Given the description of an element on the screen output the (x, y) to click on. 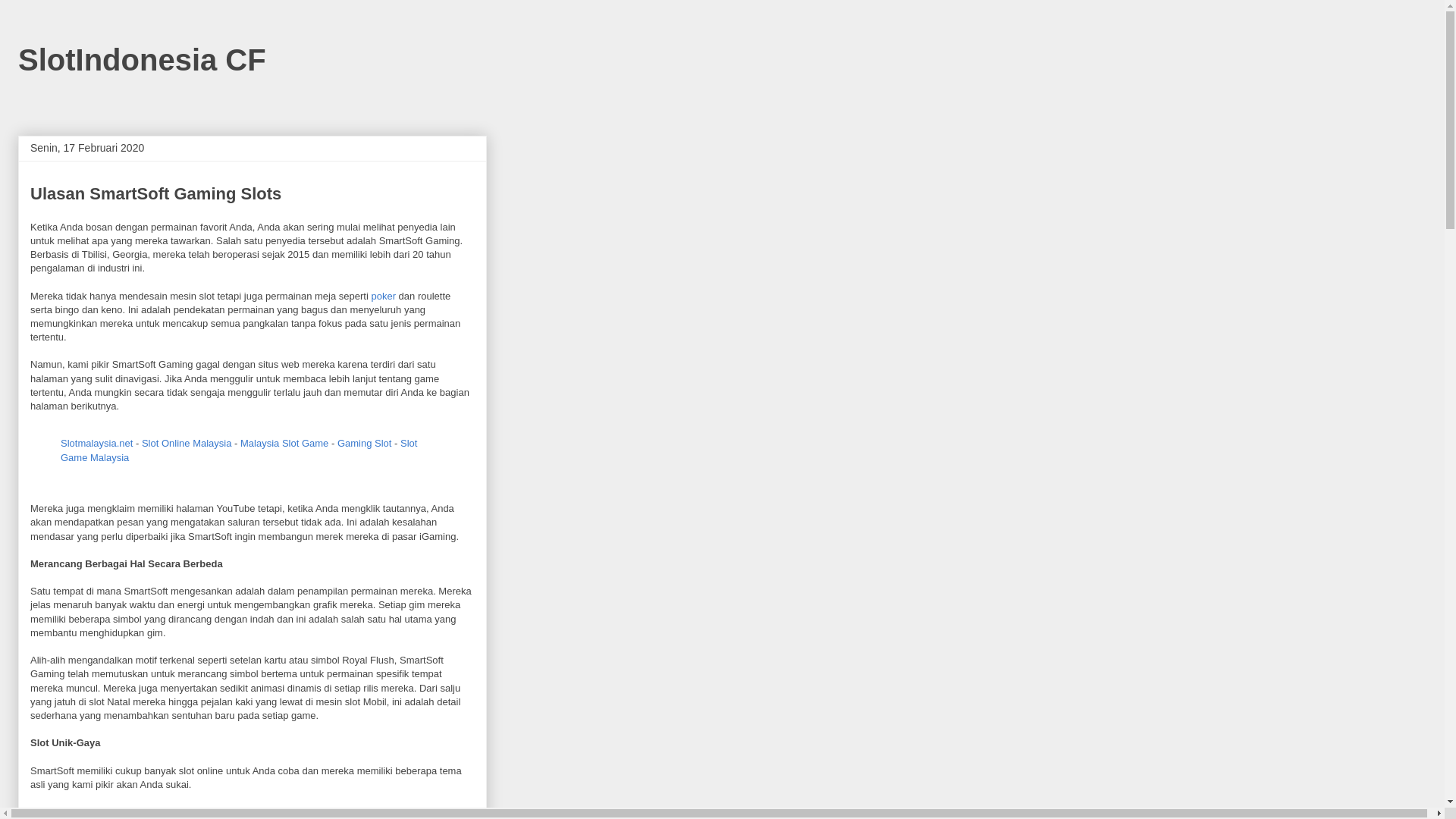
Malaysia Slot Game Element type: text (284, 442)
Slot Online Malaysia Element type: text (186, 442)
Gaming Slot Element type: text (364, 442)
Slotmalaysia.net Element type: text (96, 442)
poker Element type: text (382, 295)
SlotIndonesia CF Element type: text (142, 59)
Slot Game Malaysia Element type: text (238, 449)
